Given the description of an element on the screen output the (x, y) to click on. 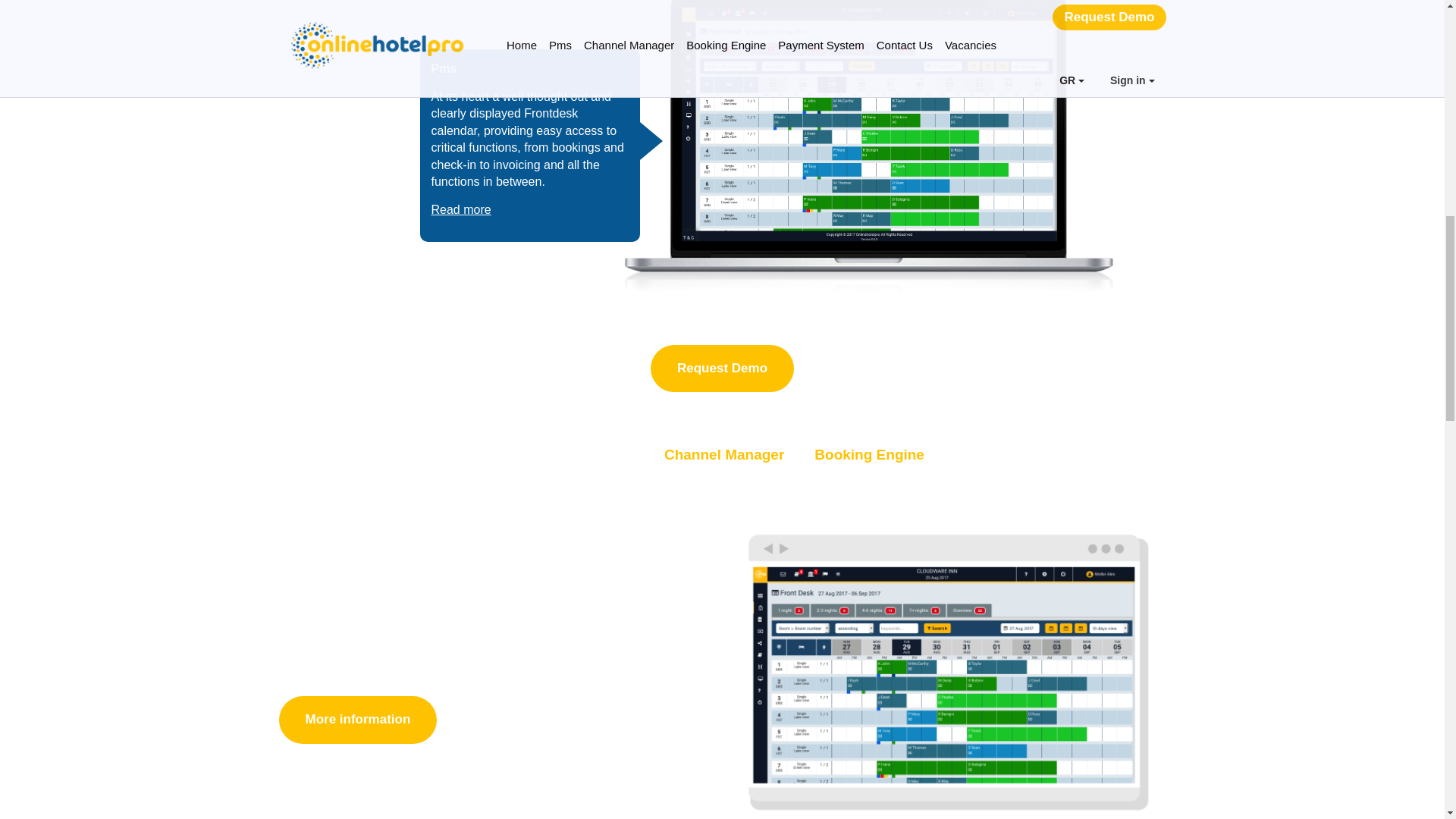
More information (358, 719)
Read more (460, 209)
Request Demo (721, 368)
